Given the description of an element on the screen output the (x, y) to click on. 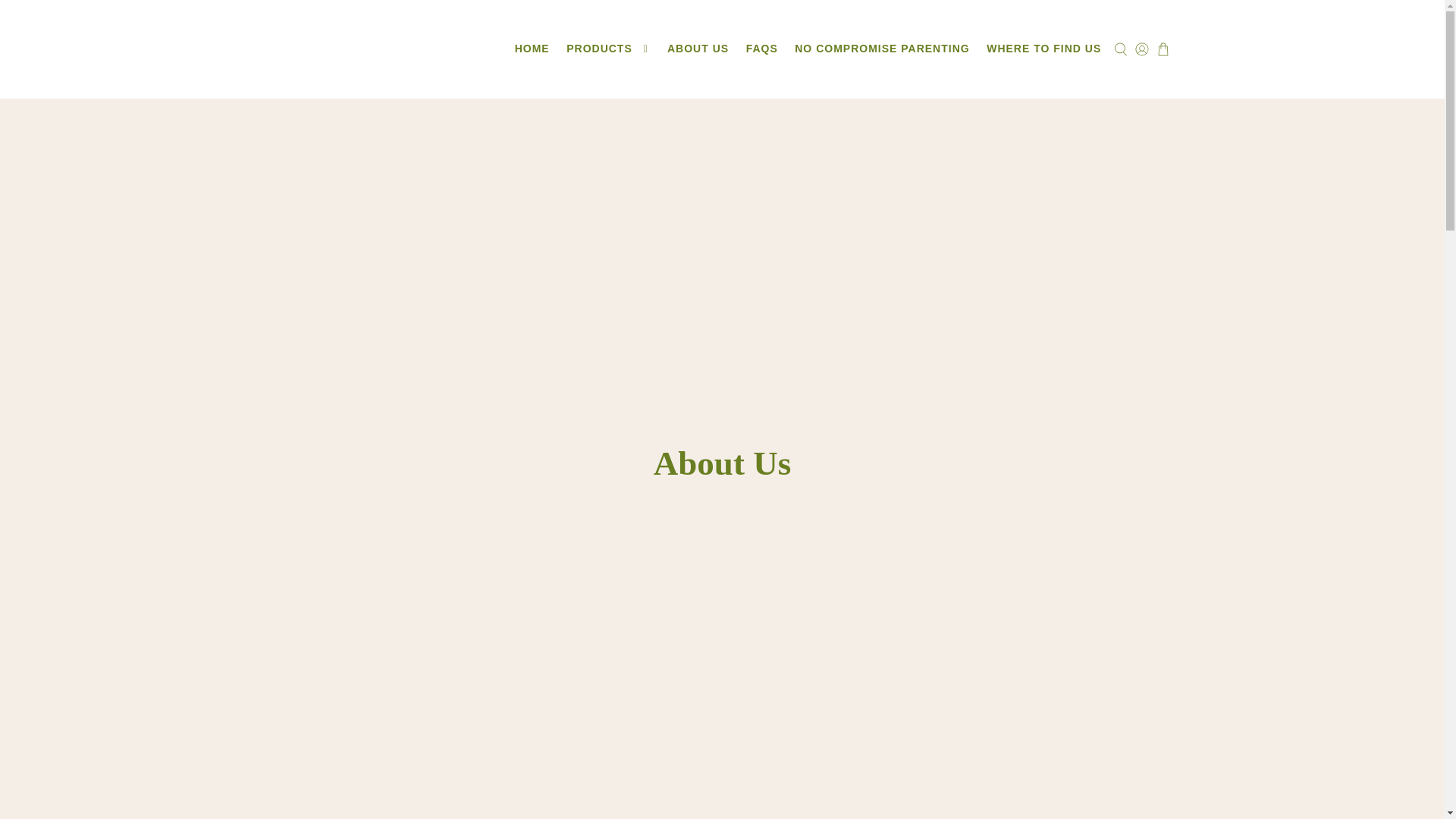
NO COMPROMISE PARENTING (882, 48)
WHERE TO FIND US (1043, 48)
Cradle Natural (359, 48)
ABOUT US (698, 48)
PRODUCTS (608, 48)
HOME (531, 48)
FAQS (761, 48)
